Given the description of an element on the screen output the (x, y) to click on. 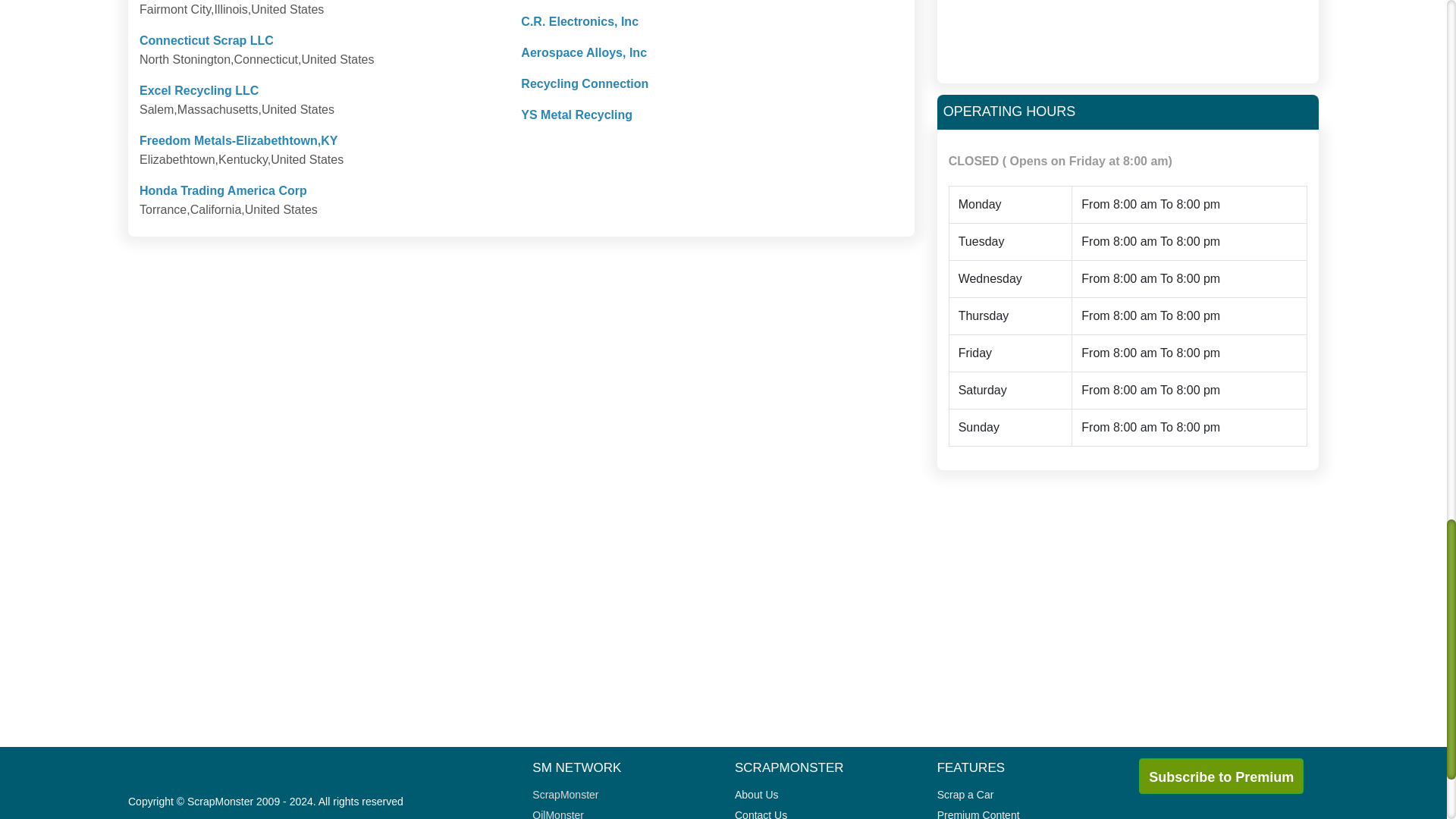
Connecticut Scrap LLC  (206, 40)
Honda Trading America Corp (223, 190)
Excel Recycling LLC  (199, 90)
C.R. Electronics, Inc (580, 21)
Freedom Metals-Elizabethtown,KY (238, 140)
